Given the description of an element on the screen output the (x, y) to click on. 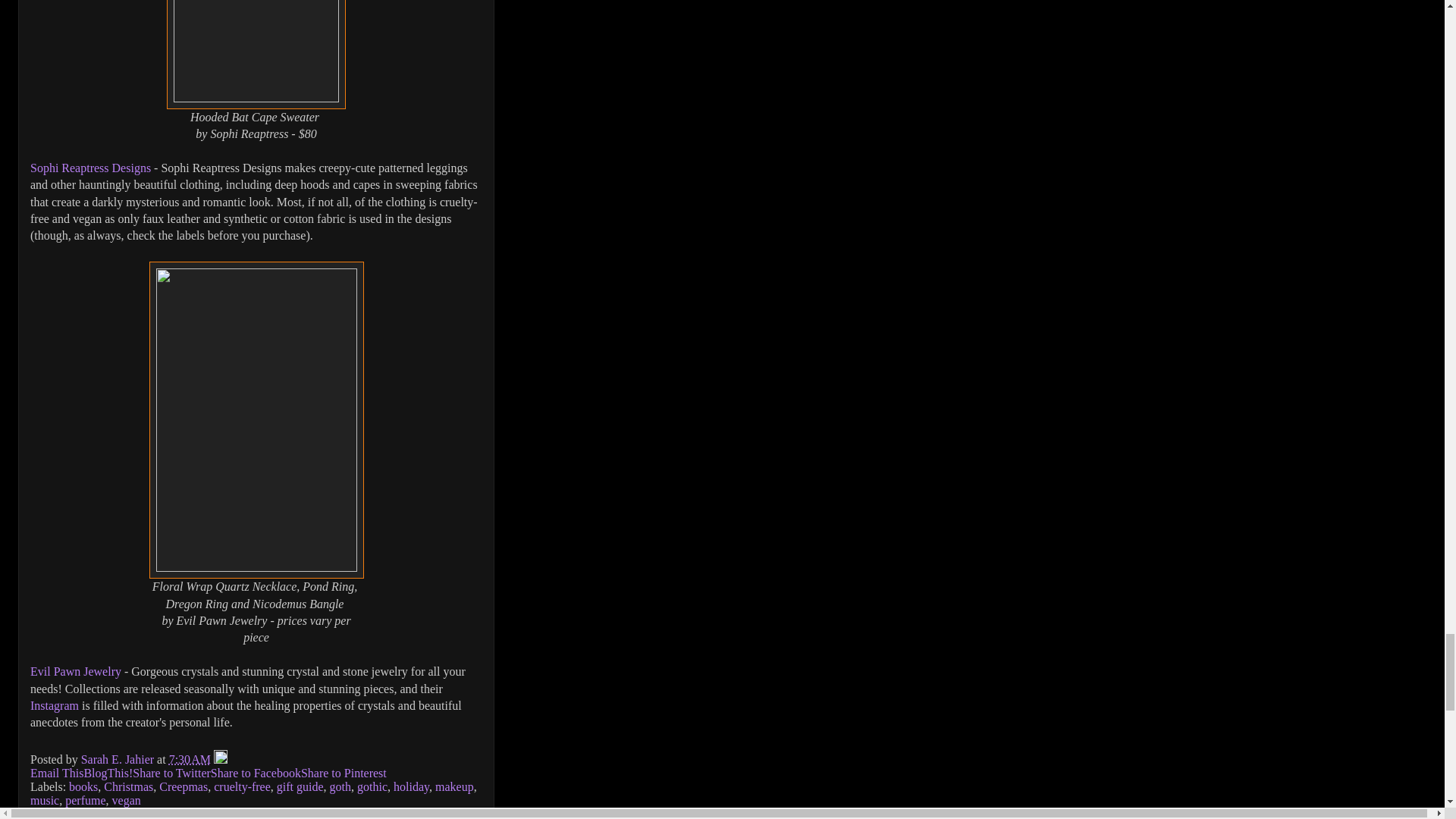
permanent link (189, 758)
Share to Facebook (256, 772)
Share to Twitter (171, 772)
Share to Pinterest (344, 772)
Sophi Reaptress Designs (90, 167)
Edit Post (220, 758)
Email This (56, 772)
author profile (119, 758)
BlogThis! (107, 772)
